Given the description of an element on the screen output the (x, y) to click on. 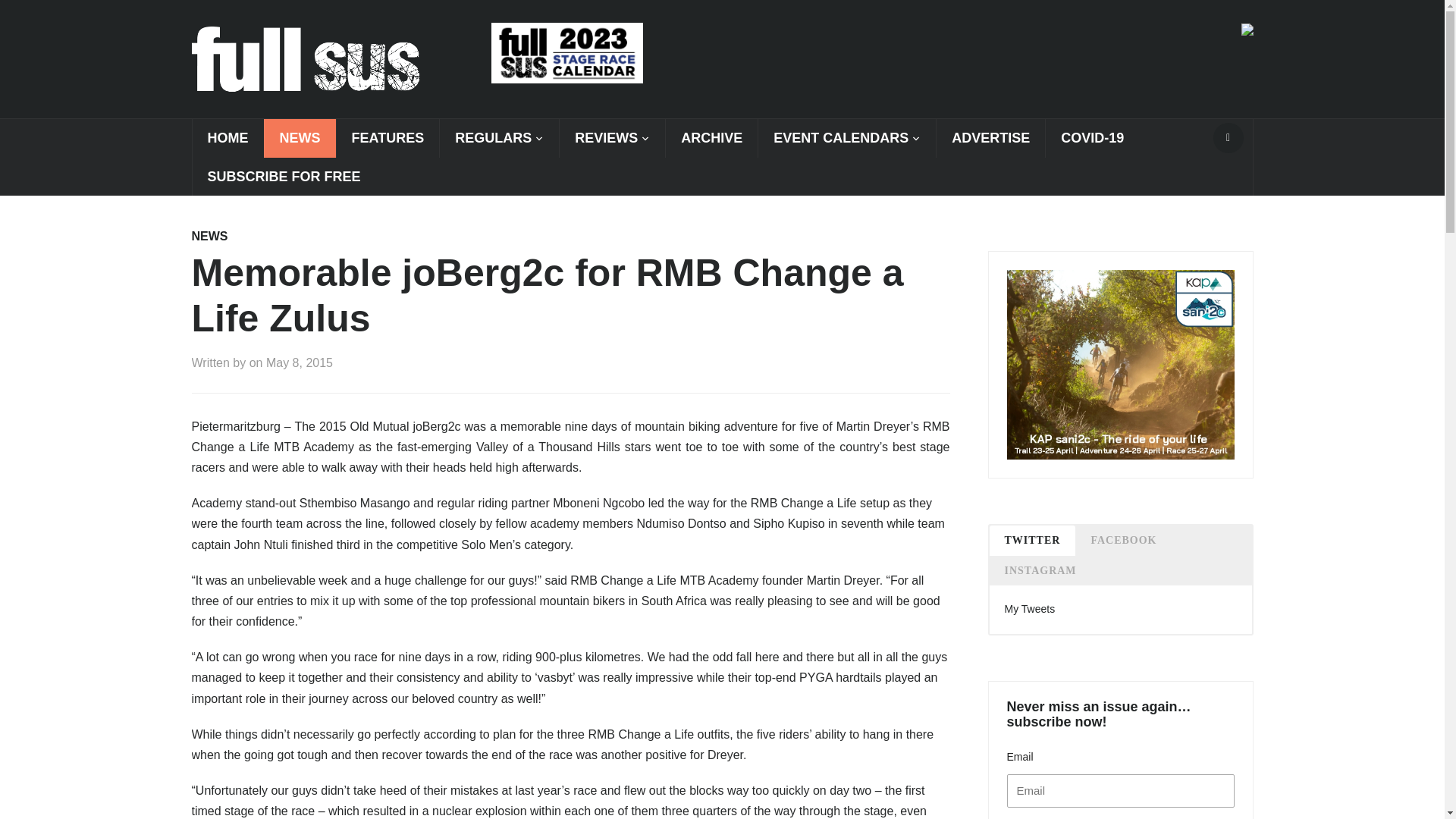
Twitter (1031, 540)
Facebook (1123, 540)
Instagram (1039, 570)
